Given the description of an element on the screen output the (x, y) to click on. 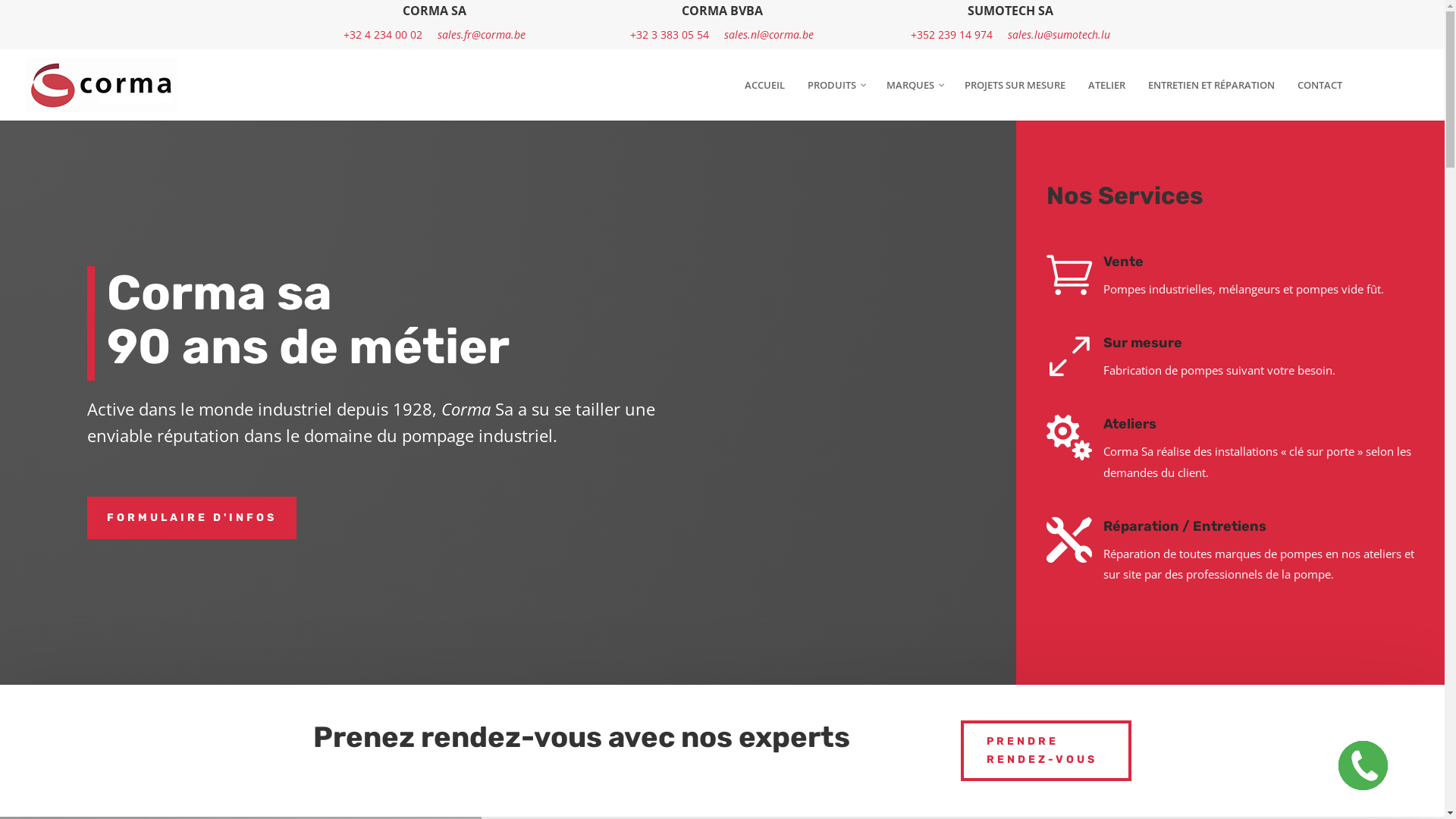
FORMULAIRE D'INFOS Element type: text (191, 517)
MARQUES Element type: text (914, 97)
sales.nl@corma.be Element type: text (768, 34)
+352 239 14 974 Element type: text (951, 34)
PRENDRE RENDEZ-VOUS Element type: text (1045, 750)
ATELIER Element type: text (1106, 97)
+32 3 383 05 54 Element type: text (669, 34)
+32 4 234 00 02 Element type: text (382, 34)
CONTACT Element type: text (1319, 97)
sales.lu@sumotech.lu Element type: text (1058, 34)
sales.fr@corma.be Element type: text (481, 34)
0 Element type: text (1069, 356)
Vente Element type: text (1123, 261)
PRODUITS Element type: text (835, 97)
Sur mesure Element type: text (1142, 342)
ACCUEIL Element type: text (764, 97)
Ateliers Element type: text (1129, 423)
PROJETS SUR MESURE Element type: text (1014, 97)
